Given the description of an element on the screen output the (x, y) to click on. 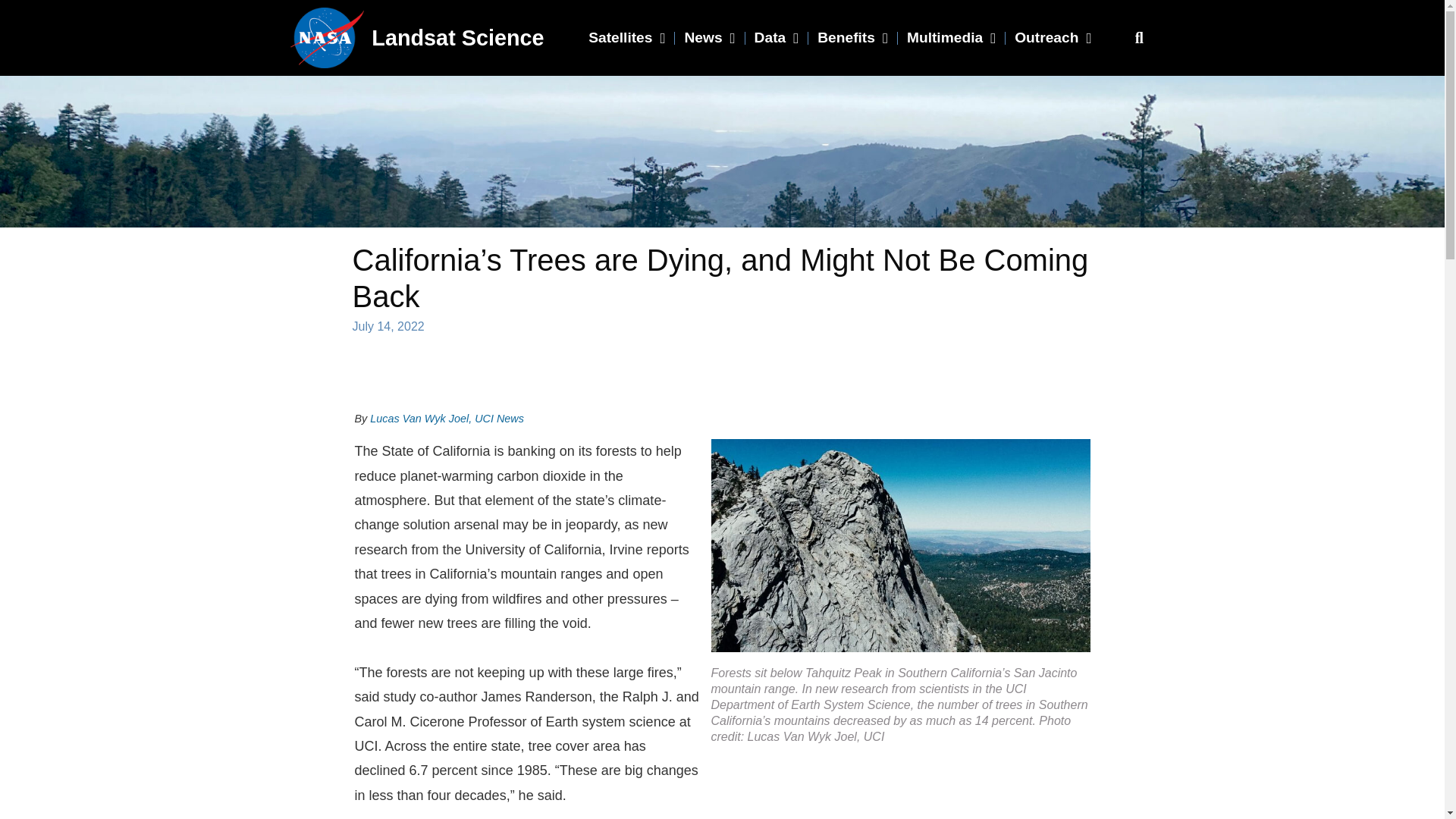
Data (776, 37)
News (709, 37)
Landsat Science (457, 37)
Benefits (852, 37)
Satellites (626, 37)
